Given the description of an element on the screen output the (x, y) to click on. 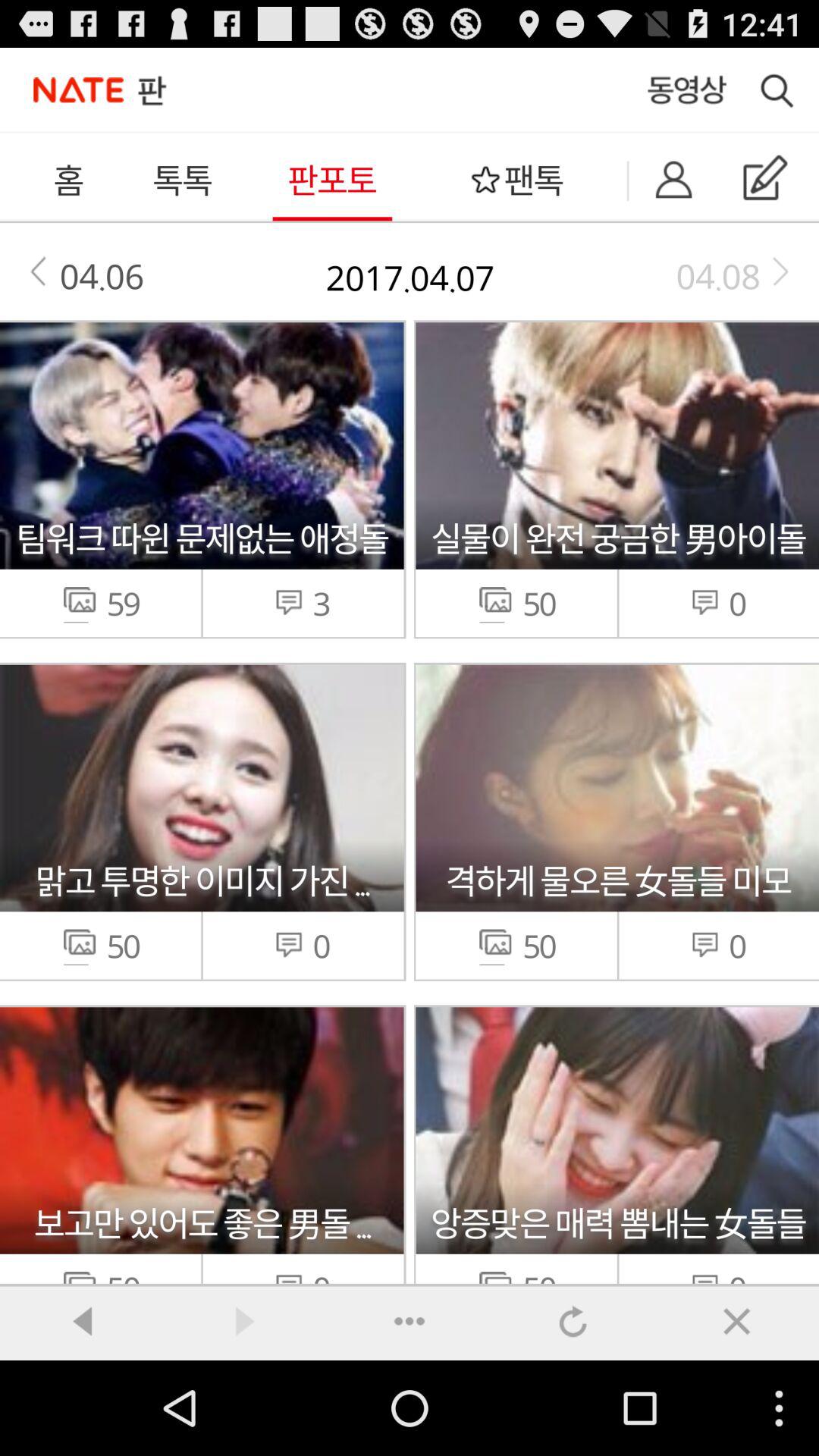
go to cancel (737, 1320)
